Given the description of an element on the screen output the (x, y) to click on. 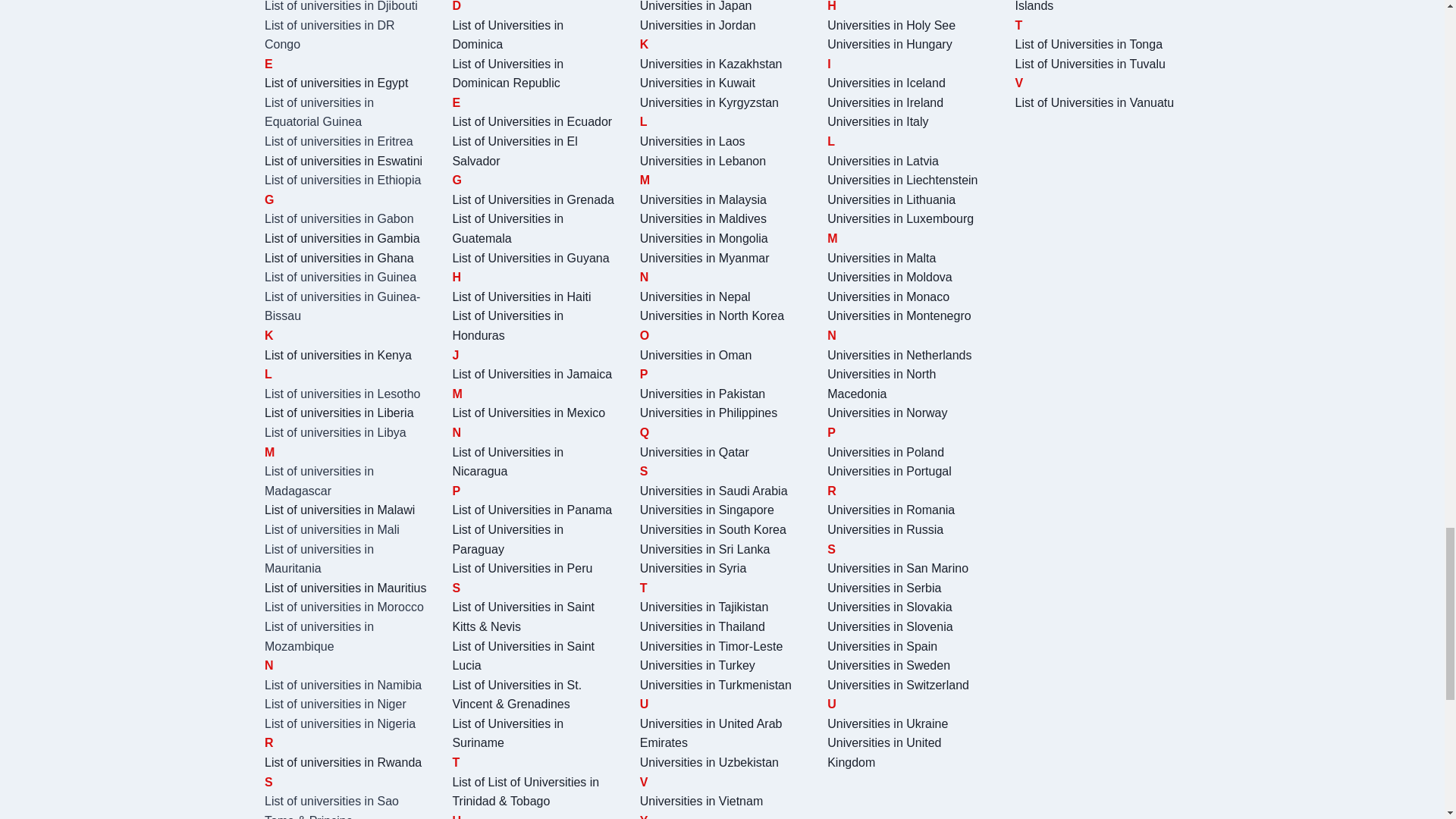
List of universities in Eswatini (343, 160)
List of universities in Gambia (342, 237)
List of universities in Egypt (335, 82)
List of universities in Ghana (338, 257)
